Given the description of an element on the screen output the (x, y) to click on. 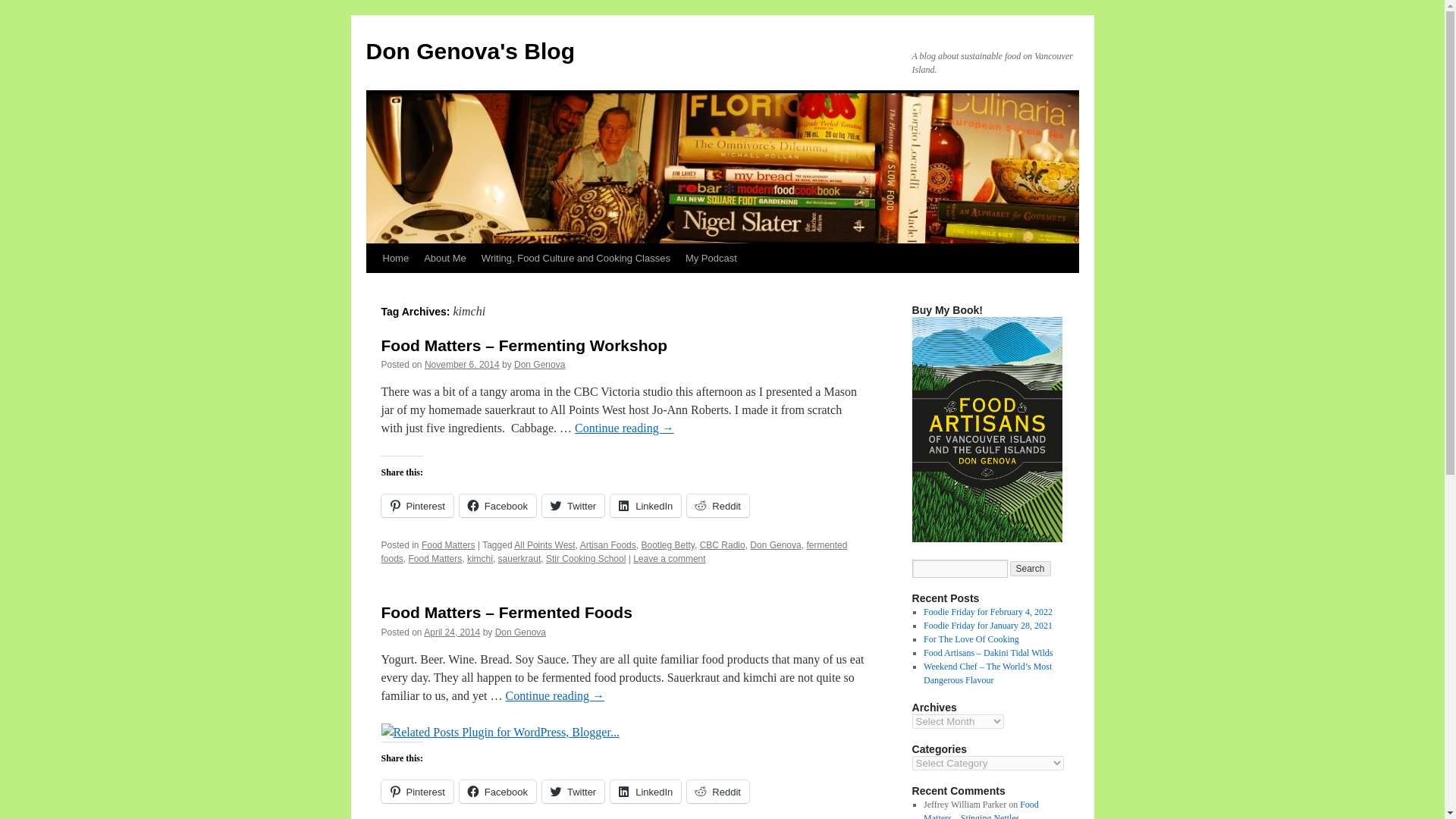
kimchi (480, 558)
LinkedIn (645, 791)
sauerkraut (519, 558)
Click to share on Facebook (497, 791)
Twitter (572, 791)
Search (1030, 568)
All Points West (544, 544)
Click to share on LinkedIn (645, 791)
Click to share on Facebook (497, 505)
Pinterest (416, 505)
Facebook (497, 791)
Don Genova's Blog (470, 50)
Don Genova (520, 632)
Click to share on Twitter (572, 505)
Click to share on Pinterest (416, 791)
